Given the description of an element on the screen output the (x, y) to click on. 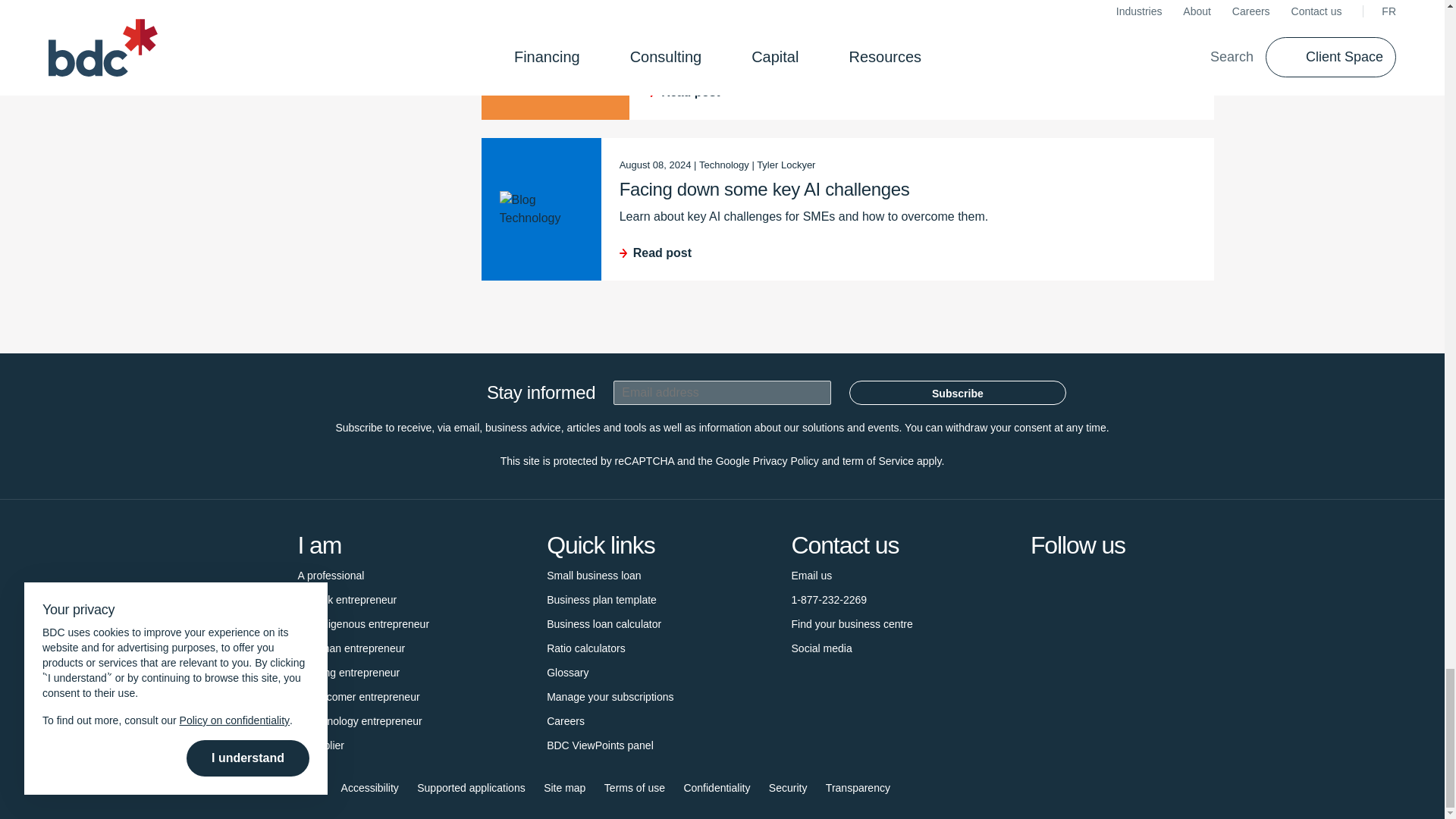
Read post (921, 92)
Read post (907, 253)
Blog Technology (540, 208)
Blog Money and finance (555, 48)
